Given the description of an element on the screen output the (x, y) to click on. 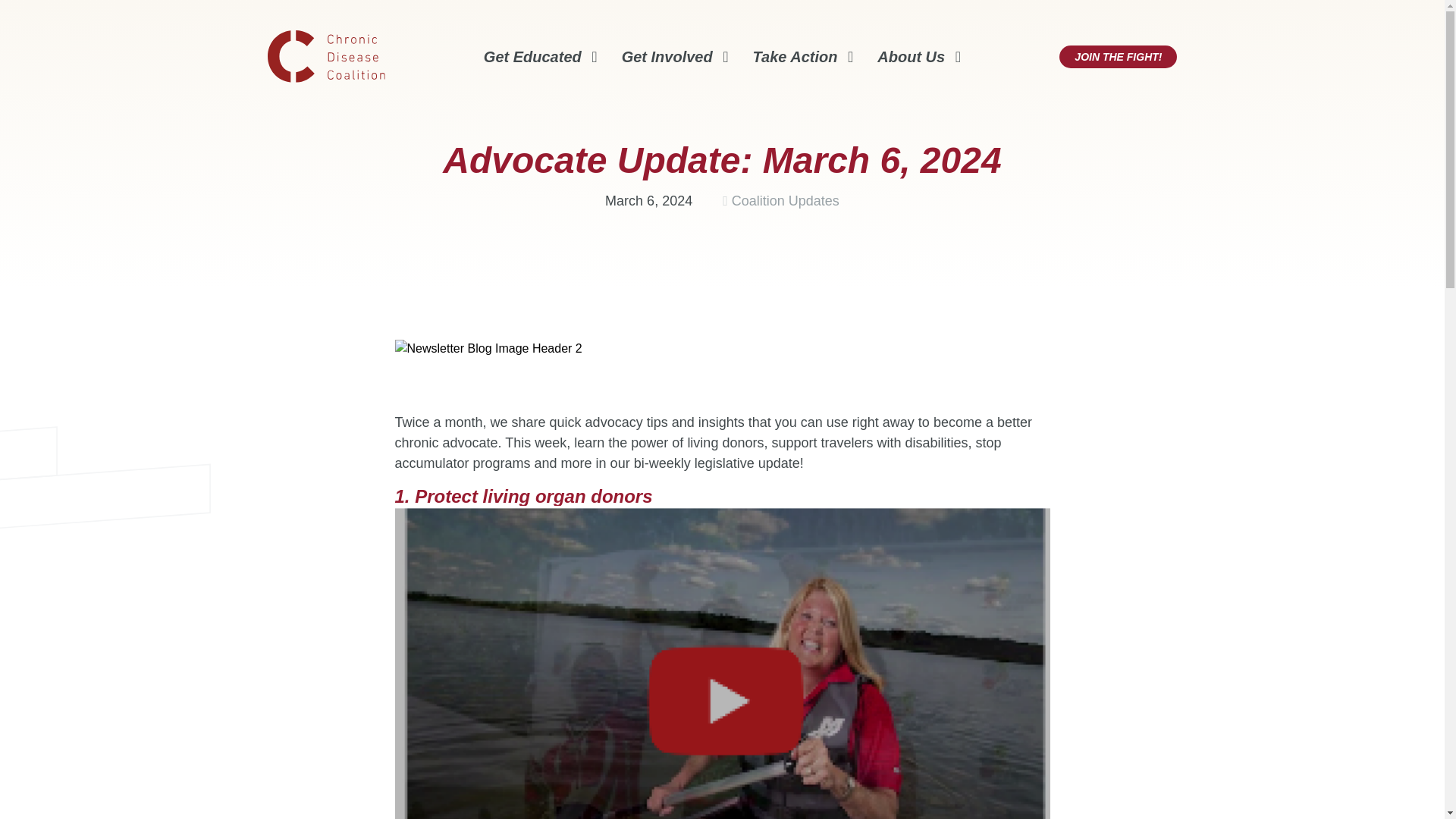
Take Action (802, 56)
Get Involved (675, 56)
JOIN THE FIGHT! (1117, 56)
Get Educated (539, 56)
Coalition Updates (786, 200)
About Us (918, 56)
Protect living organ donors (533, 496)
